Given the description of an element on the screen output the (x, y) to click on. 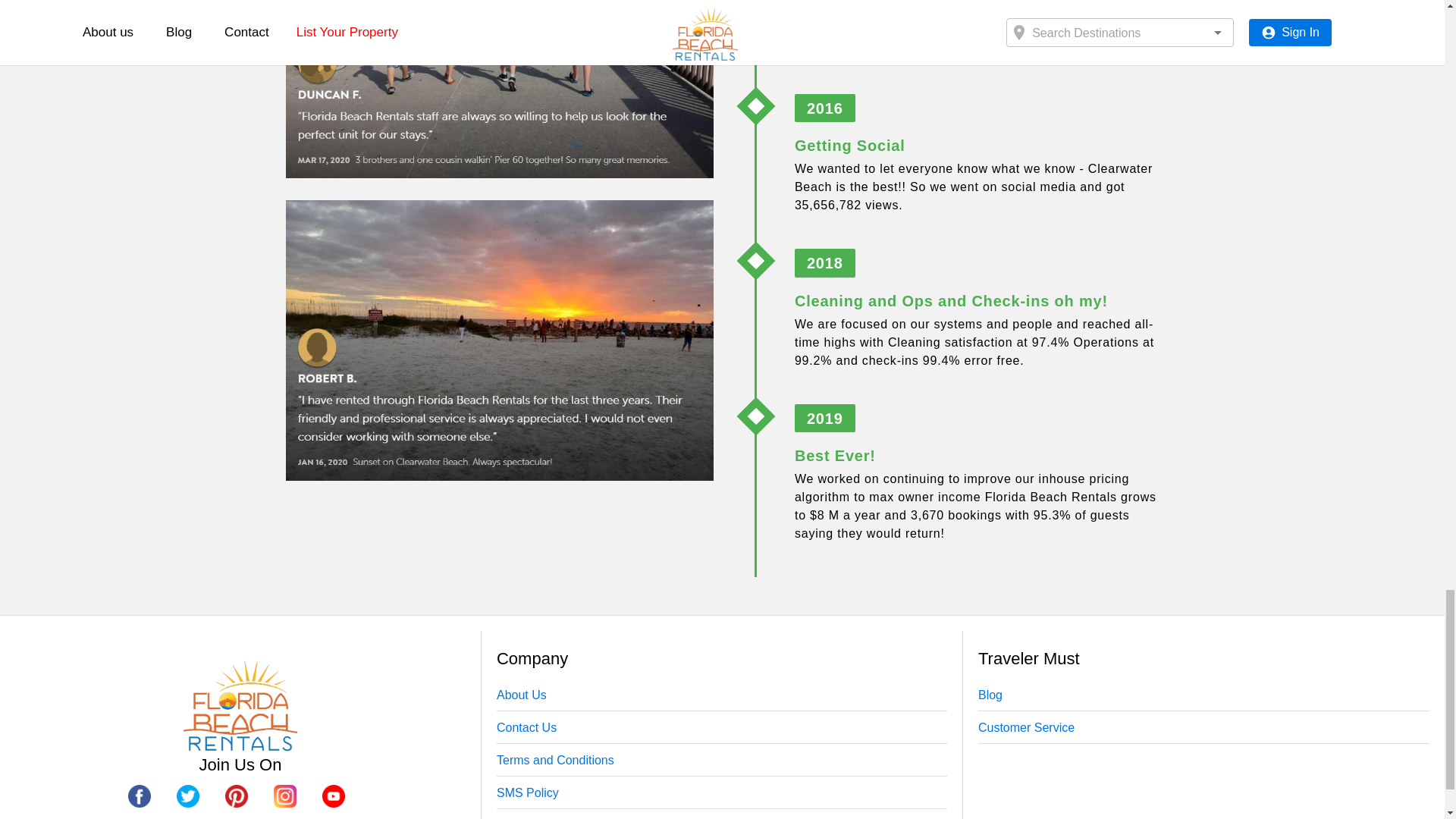
Blog (1203, 698)
Terms and Conditions (555, 760)
Customer Service (1203, 731)
SMS Policy (721, 796)
SMS Policy (527, 792)
About Us (521, 695)
Terms and Conditions (721, 763)
Contact Us (526, 728)
Contact Us (721, 731)
About Us (721, 698)
